Given the description of an element on the screen output the (x, y) to click on. 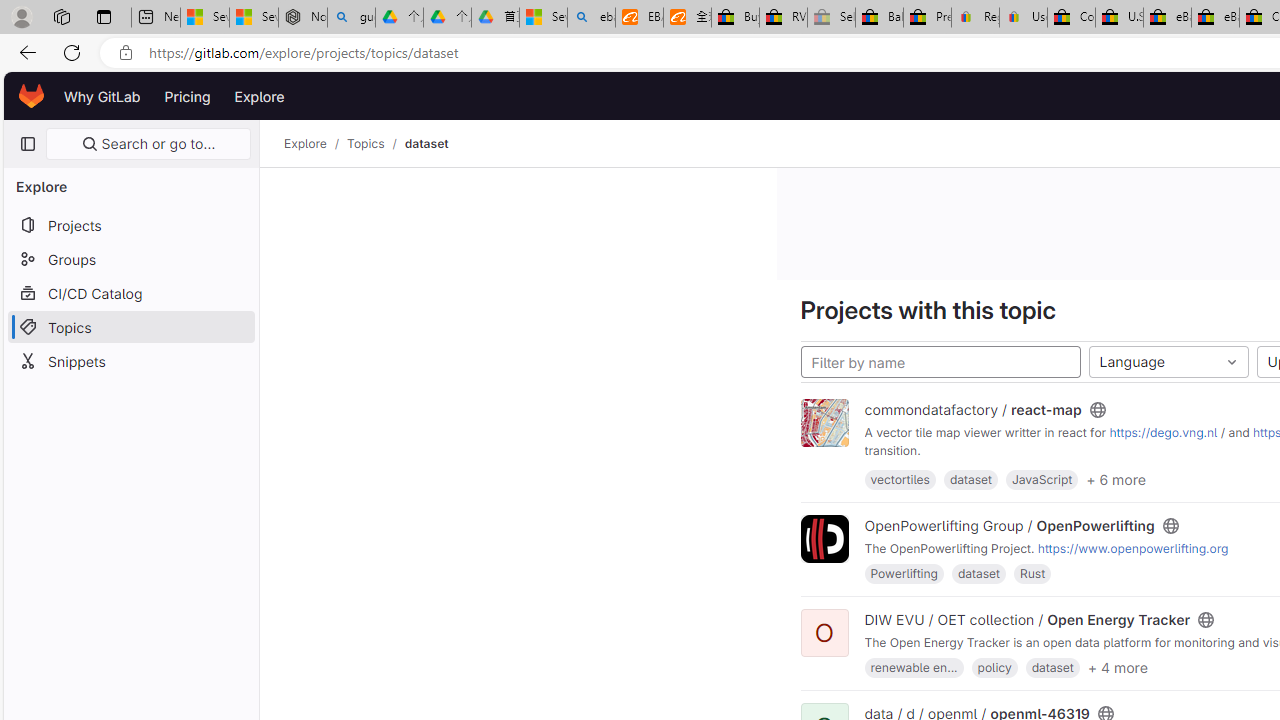
U.S. State Privacy Disclosures - eBay Inc. (1119, 17)
vectortiles (899, 479)
Why GitLab (102, 95)
Explore (259, 95)
dataset (1052, 667)
New tab (155, 17)
Snippets (130, 360)
Projects (130, 224)
Explore/ (316, 143)
User Privacy Notice | eBay (1023, 17)
Tab actions menu (104, 16)
guge yunpan - Search (351, 17)
Class: s16 dropdown-menu-toggle-icon (1231, 362)
renewable en... (913, 667)
